Given the description of an element on the screen output the (x, y) to click on. 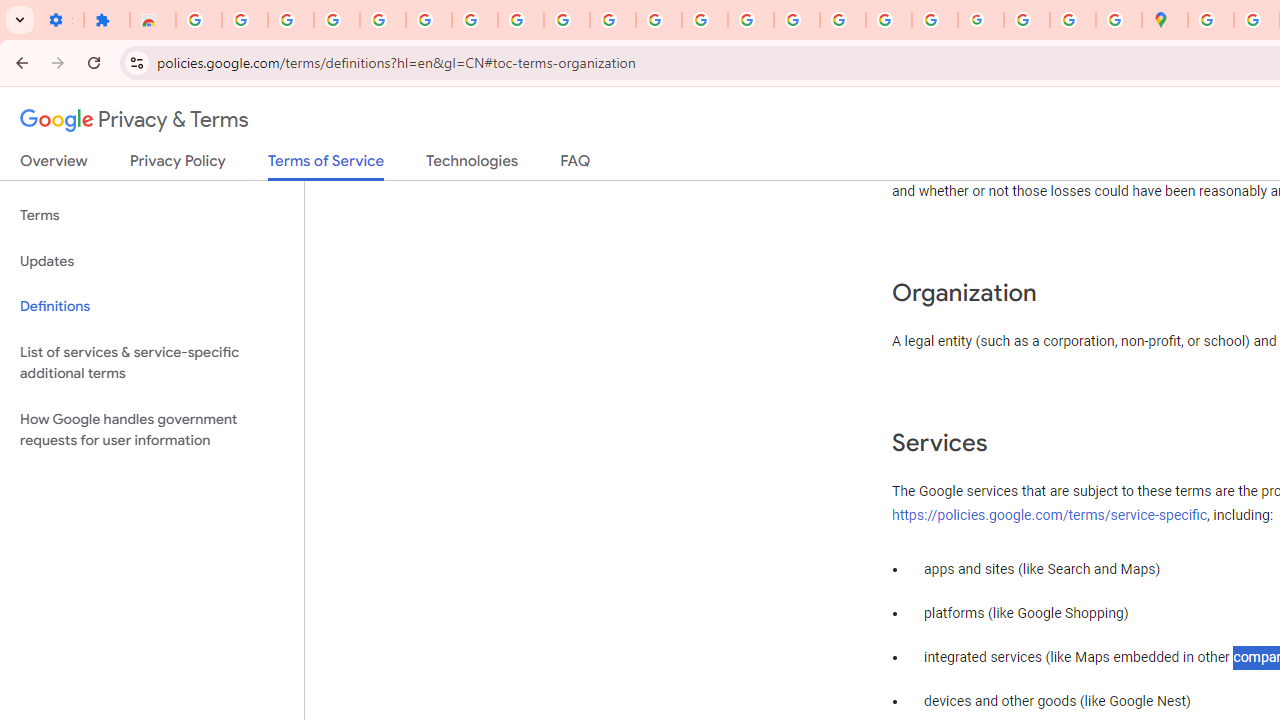
Privacy & Terms (134, 120)
Google Maps (1164, 20)
https://scholar.google.com/ (705, 20)
Google Account Help (428, 20)
Privacy Policy (177, 165)
List of services & service-specific additional terms (152, 362)
Sign in - Google Accounts (382, 20)
Terms of Service (326, 166)
Sign in - Google Accounts (1210, 20)
